Given the description of an element on the screen output the (x, y) to click on. 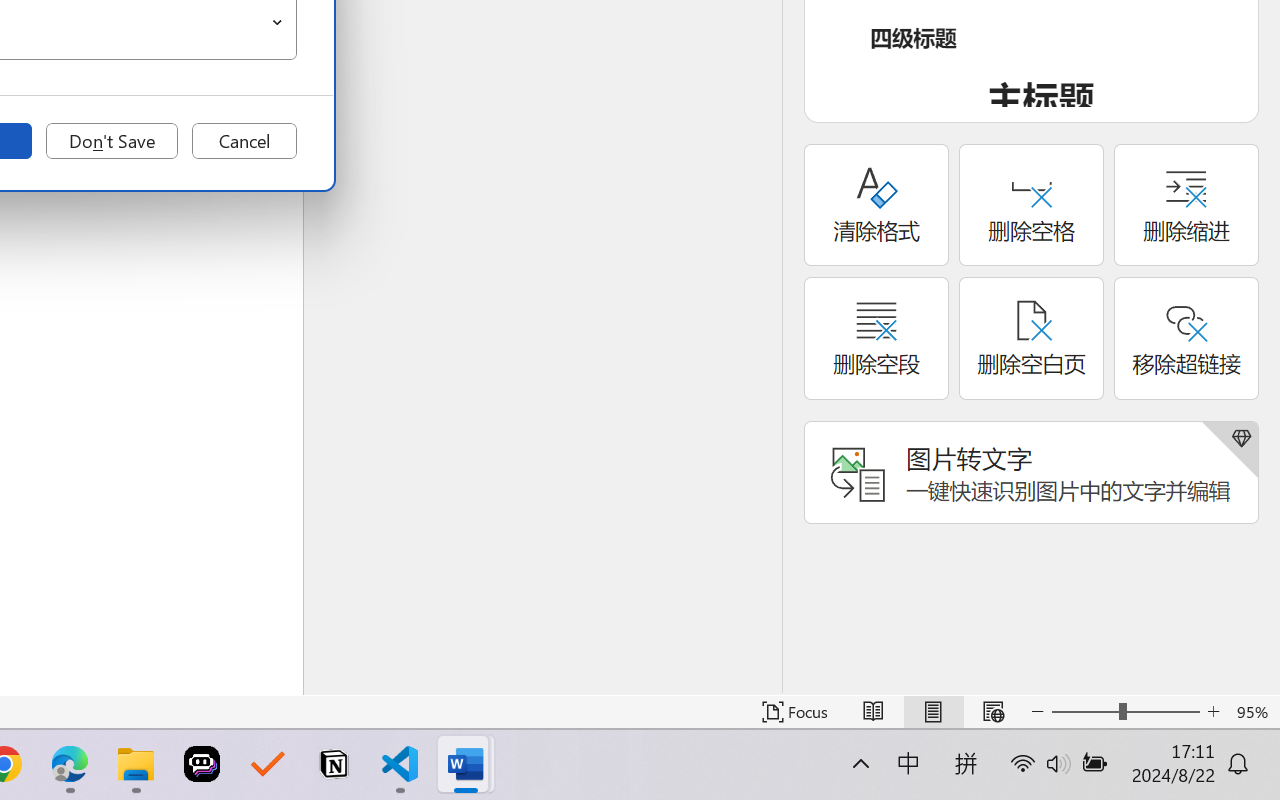
Don't Save (111, 141)
